Given the description of an element on the screen output the (x, y) to click on. 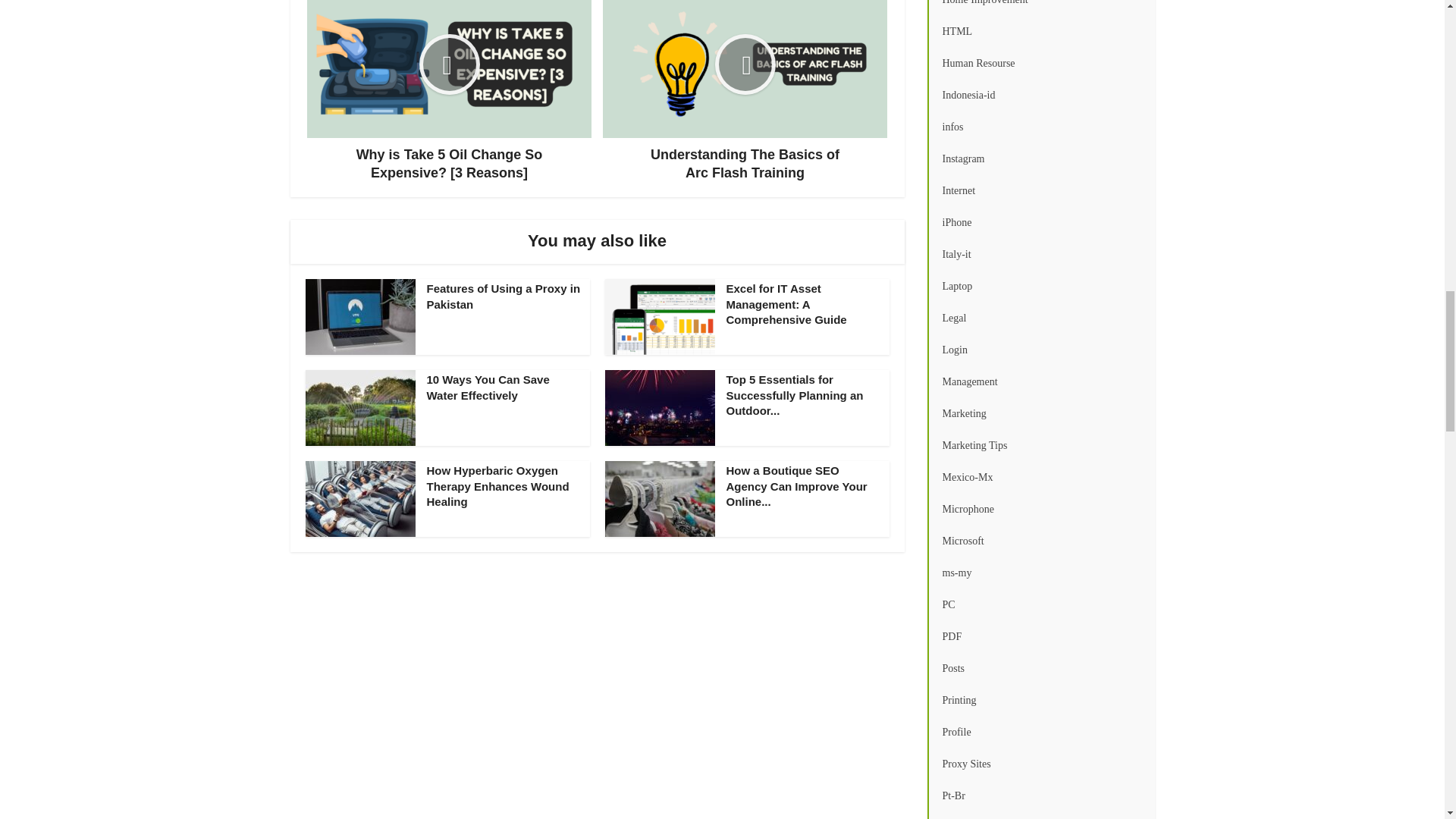
How Hyperbaric Oxygen Therapy Enhances Wound Healing (497, 485)
Excel for IT Asset Management: A Comprehensive Guide (786, 303)
Understanding The Basics of Arc Flash Training (744, 90)
Top 5 Essentials for Successfully Planning an Outdoor Event (794, 394)
Top 5 Essentials for Successfully Planning an Outdoor... (794, 394)
How a Boutique SEO Agency Can Improve Your Online... (796, 485)
10 Ways You Can Save Water Effectively (487, 387)
Excel for IT Asset Management: A Comprehensive Guide (786, 303)
Features of Using a Proxy in Pakistan (502, 295)
10 Ways You Can Save Water Effectively (487, 387)
